Given the description of an element on the screen output the (x, y) to click on. 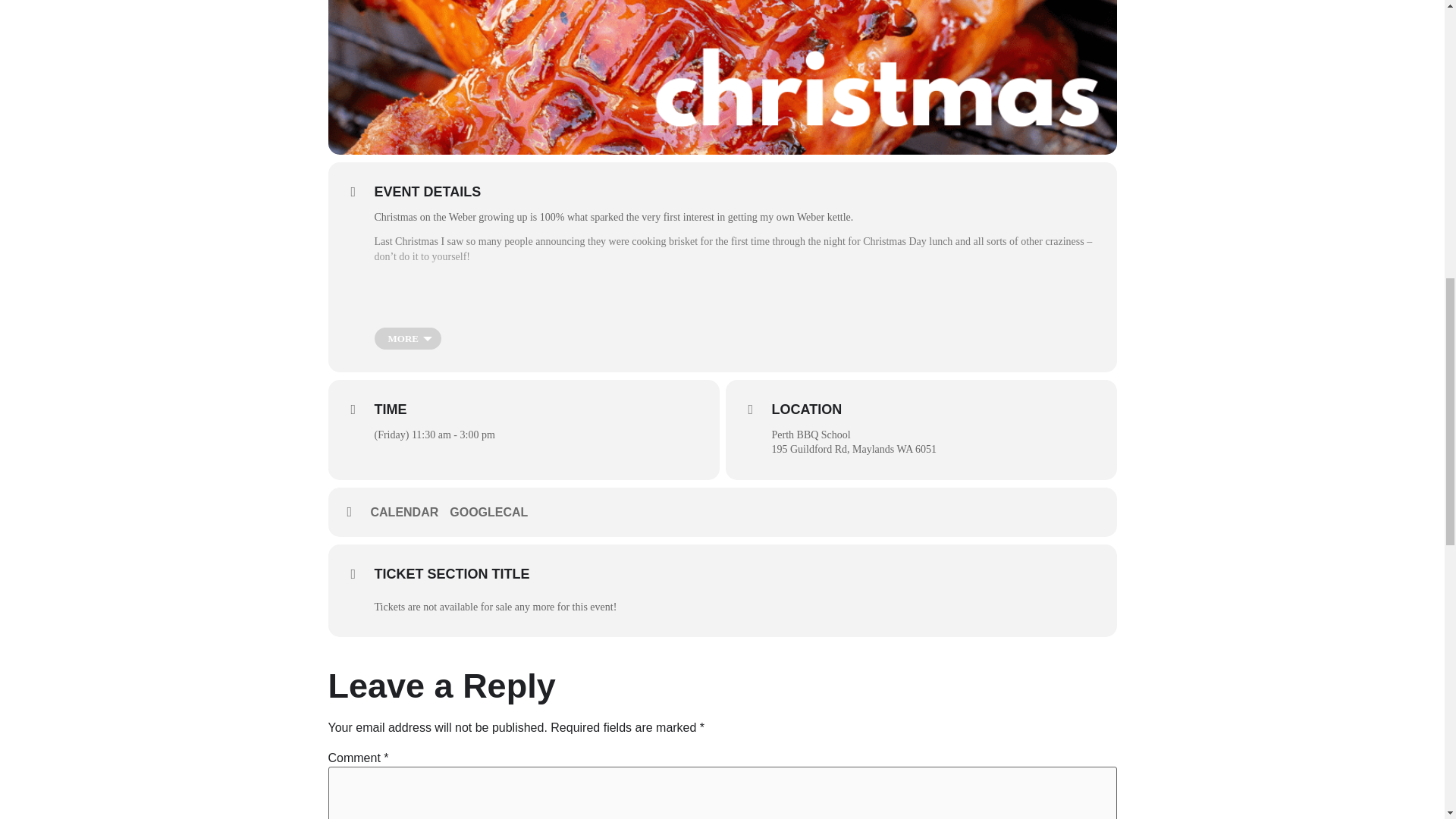
Add to google calendar (493, 512)
CALENDAR (409, 512)
Add to your calendar (409, 512)
GOOGLECAL (493, 512)
